Given the description of an element on the screen output the (x, y) to click on. 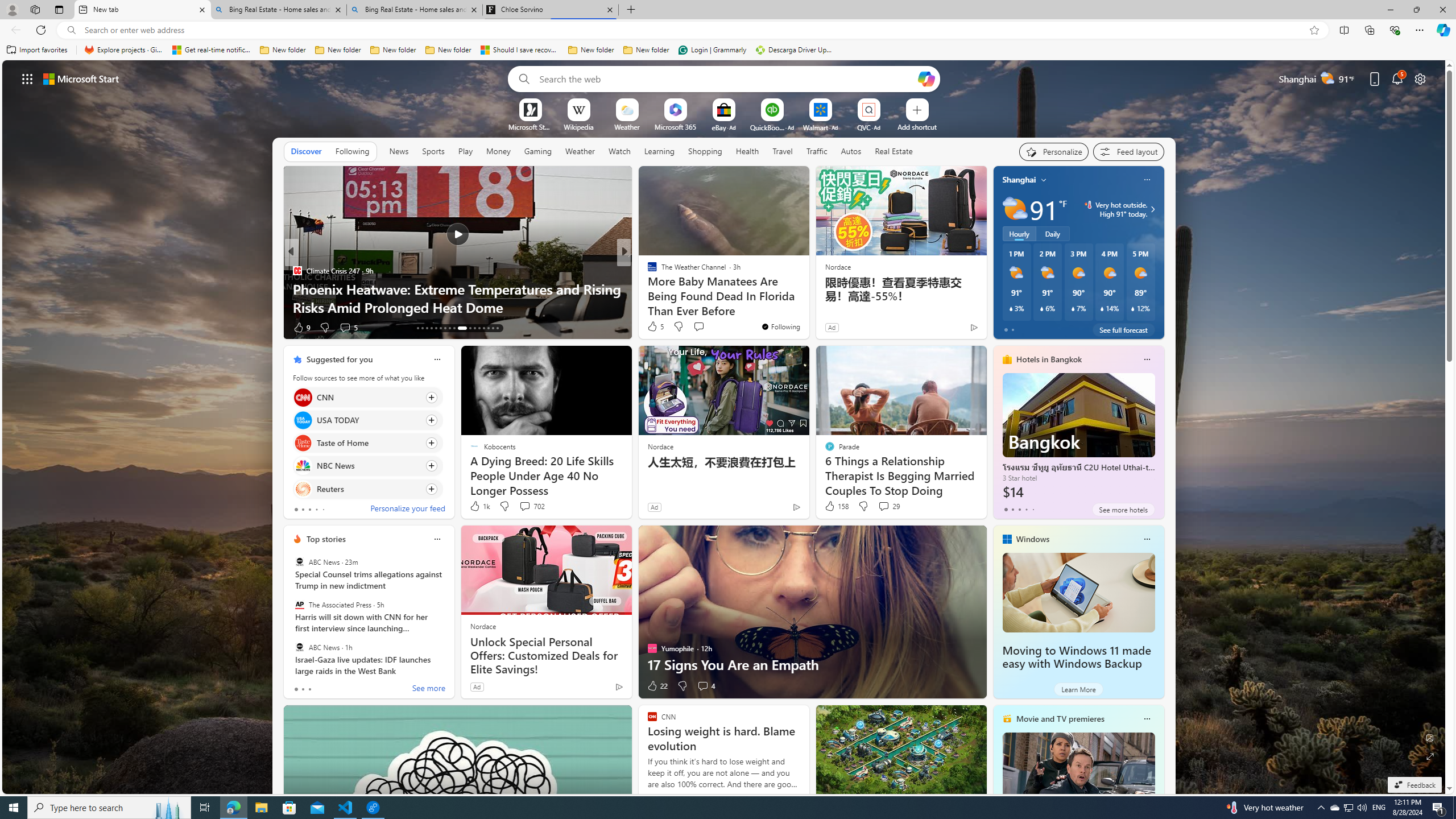
View comments 5 Comment (705, 327)
AutomationID: tab-16 (431, 328)
146 Like (654, 327)
App launcher (27, 78)
Top 10 Worst Things To Do When Camping (807, 307)
USA TODAY (302, 419)
Feed settings (1128, 151)
How to Survive (647, 288)
AutomationID: tab-41 (492, 328)
